Given the description of an element on the screen output the (x, y) to click on. 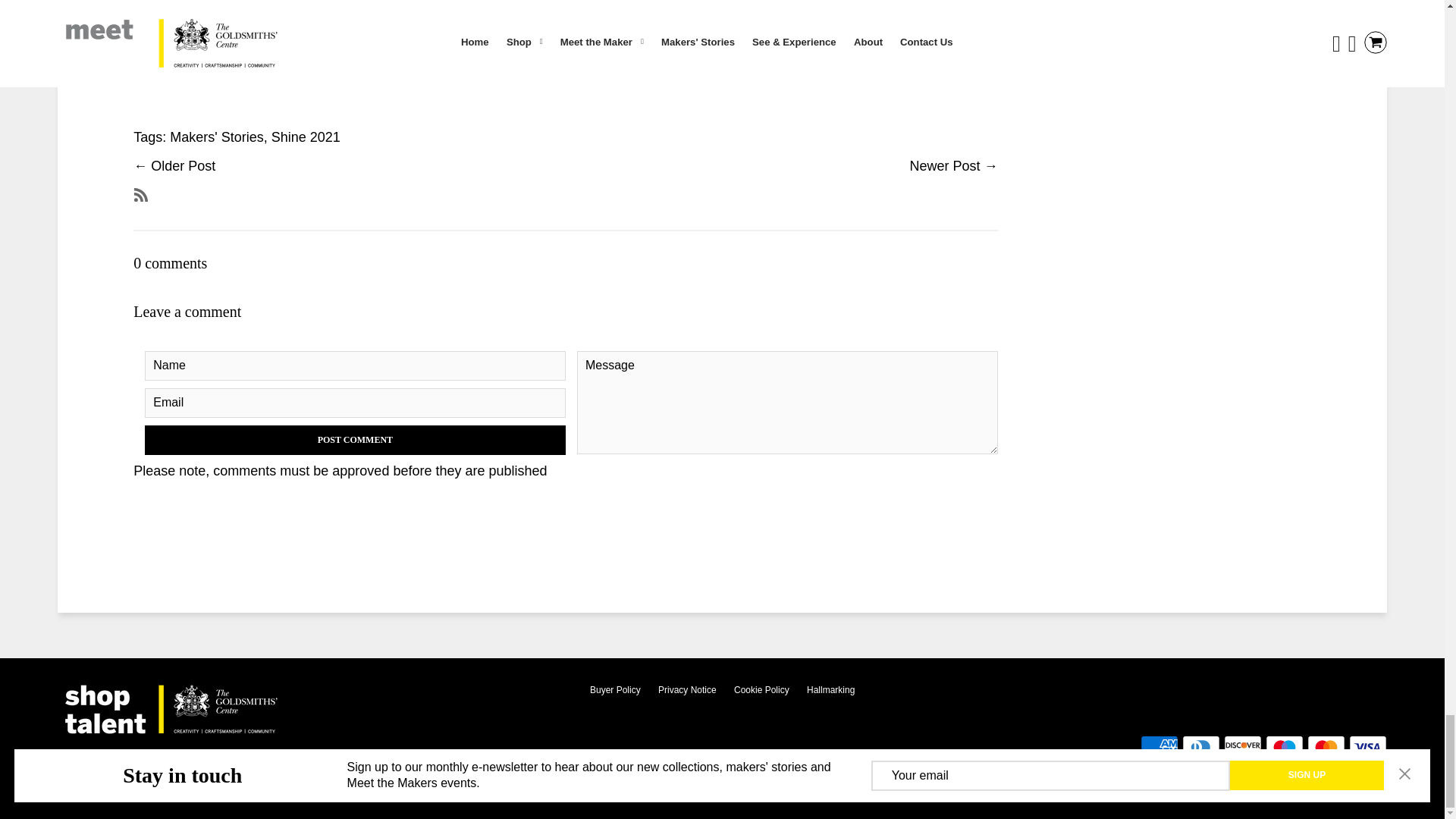
Visa (1368, 747)
American Express (1158, 747)
Mastercard (1326, 747)
Maestro (1284, 747)
Post comment (355, 440)
Diners Club (1201, 747)
Discover (1243, 747)
